Given the description of an element on the screen output the (x, y) to click on. 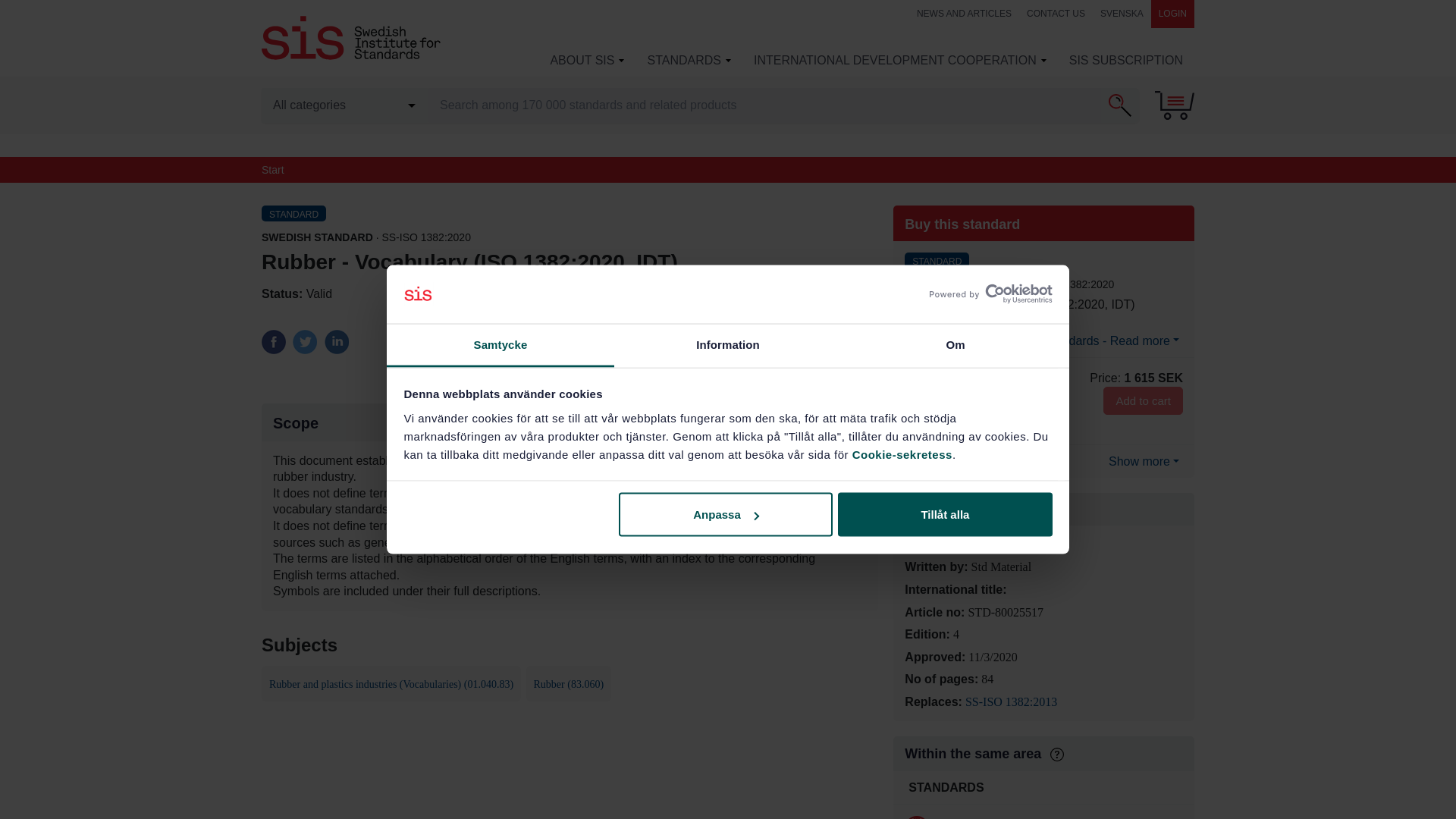
Cookie-sekretess (901, 453)
Samtycke (500, 344)
Om (954, 344)
Information (727, 344)
